Given the description of an element on the screen output the (x, y) to click on. 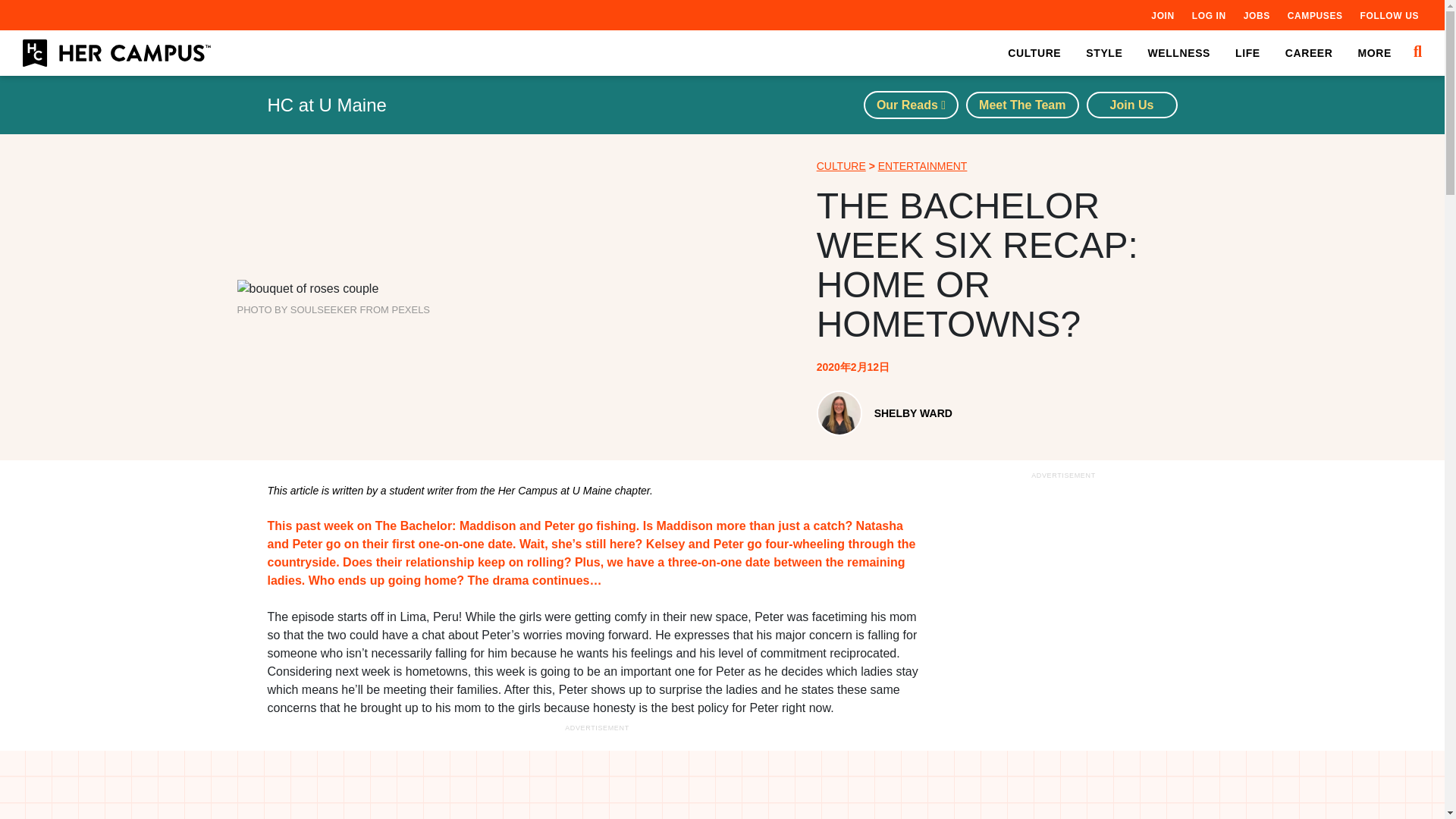
The Bachelor Week Six Recap: Home or Hometowns? 1 (306, 289)
JOBS (1256, 15)
JOIN (1162, 15)
LOG IN (1208, 15)
CAMPUSES (1314, 15)
